Given the description of an element on the screen output the (x, y) to click on. 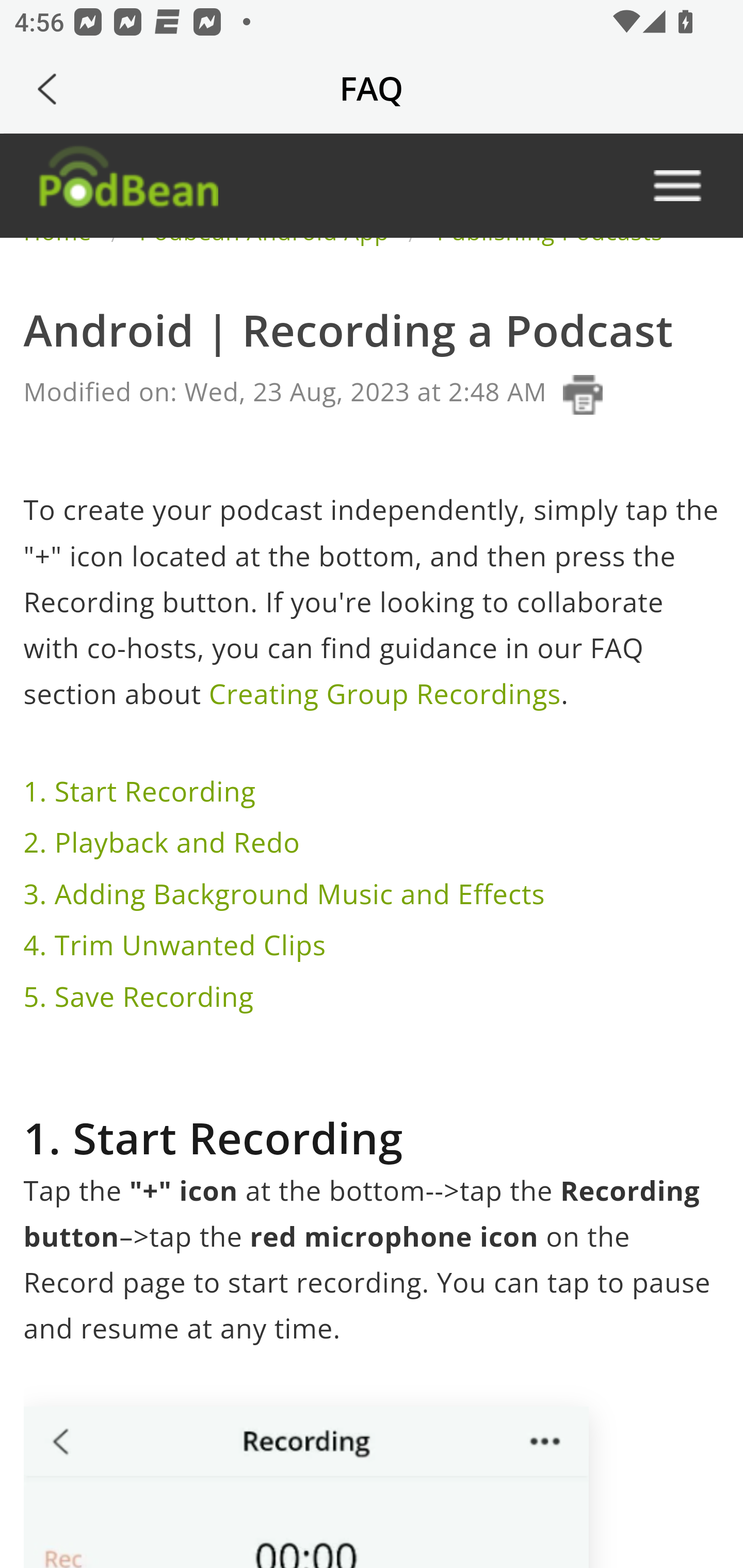
Back (46, 88)
Logo (127, 184)
Print this Article (582, 394)
Creating Group Recordings (384, 694)
1. Start Recording  (142, 791)
2. Playback and Redo  (164, 842)
3. Adding Background Music and Effects  (287, 893)
4. Trim Unwanted Clips  (177, 945)
5. Save Recording  (141, 997)
record_icon8z86y (304, 1487)
